Given the description of an element on the screen output the (x, y) to click on. 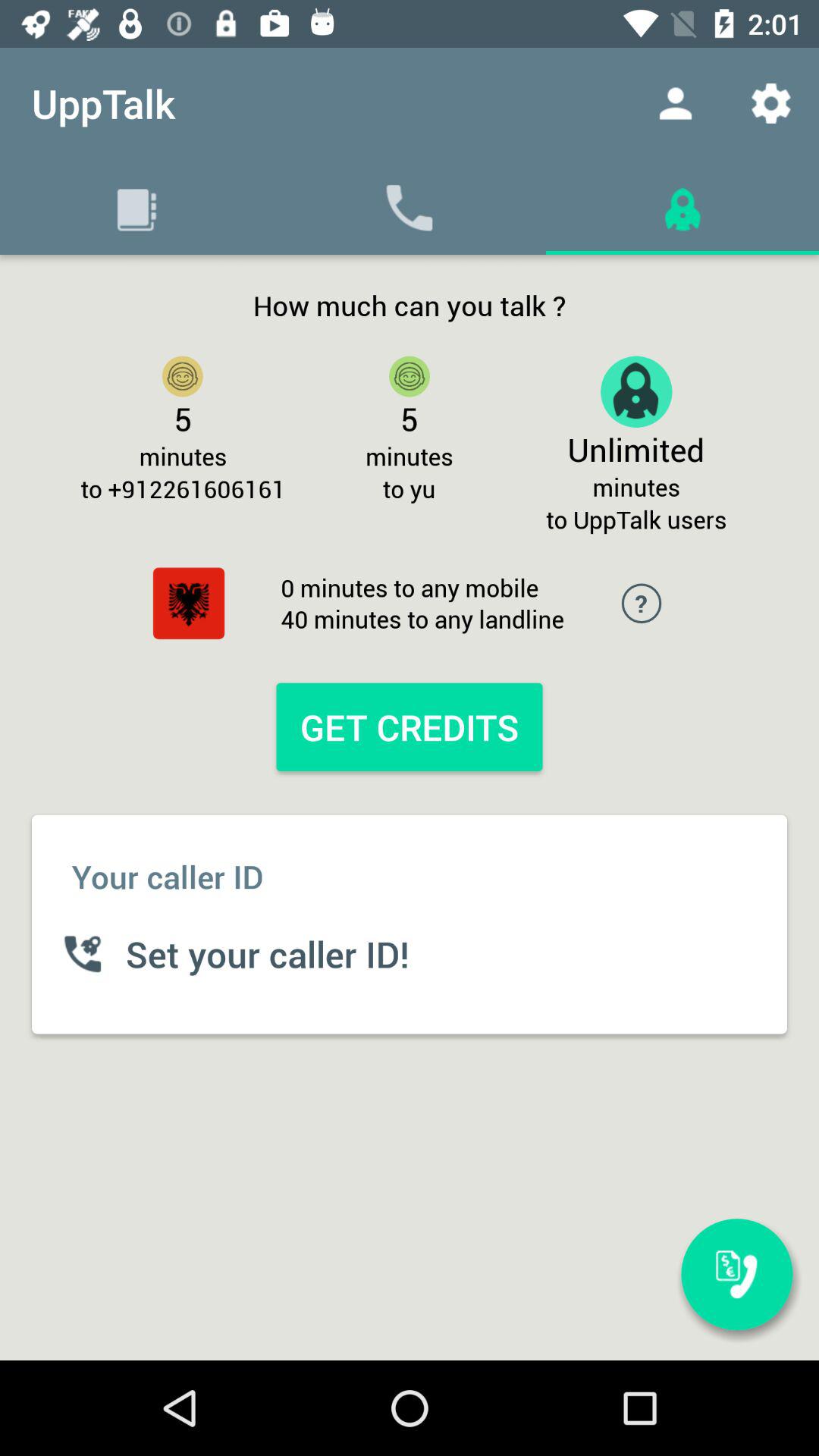
open icon at the bottom right corner (737, 1274)
